Given the description of an element on the screen output the (x, y) to click on. 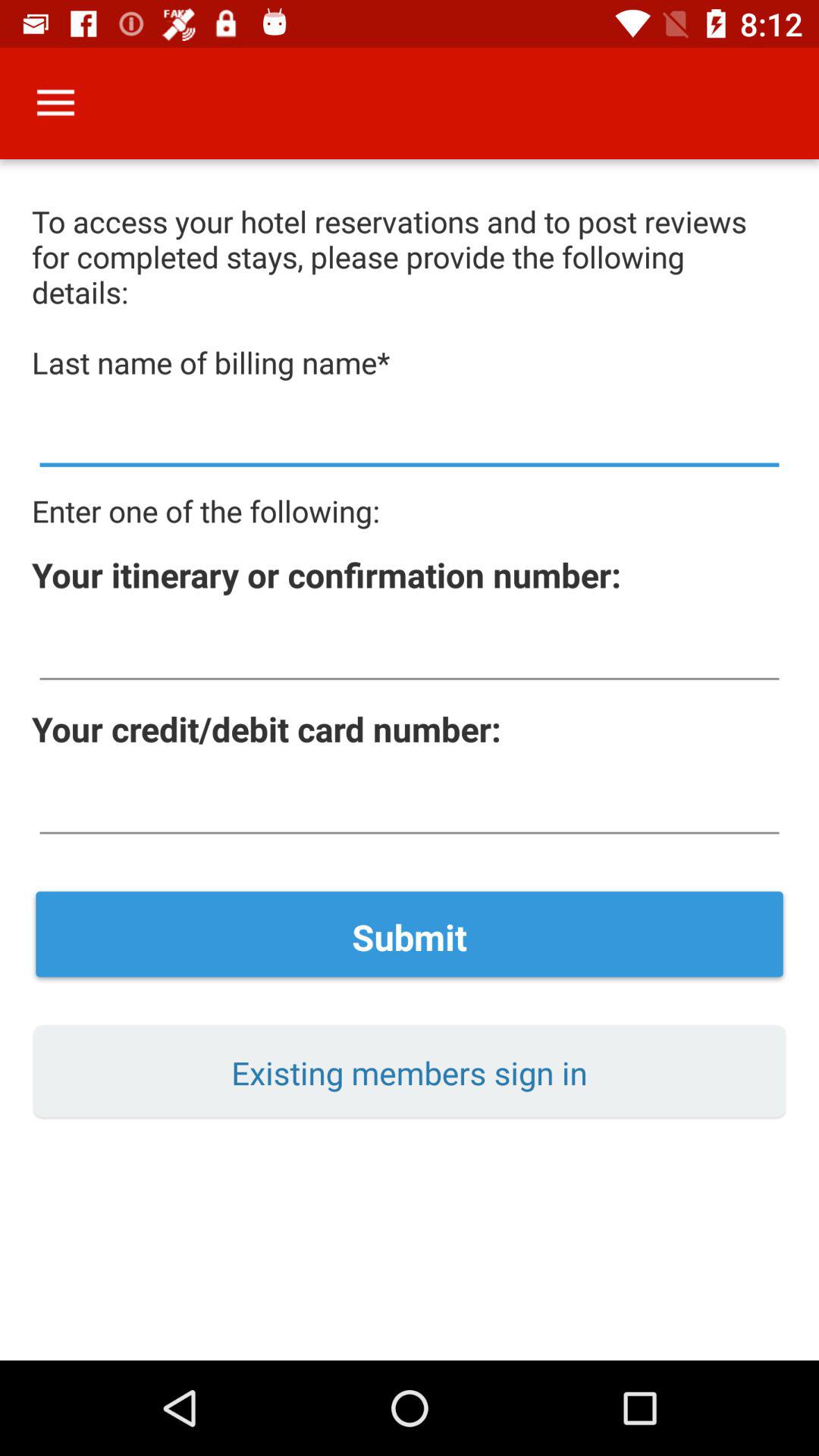
enter the billing name surname here (409, 436)
